Given the description of an element on the screen output the (x, y) to click on. 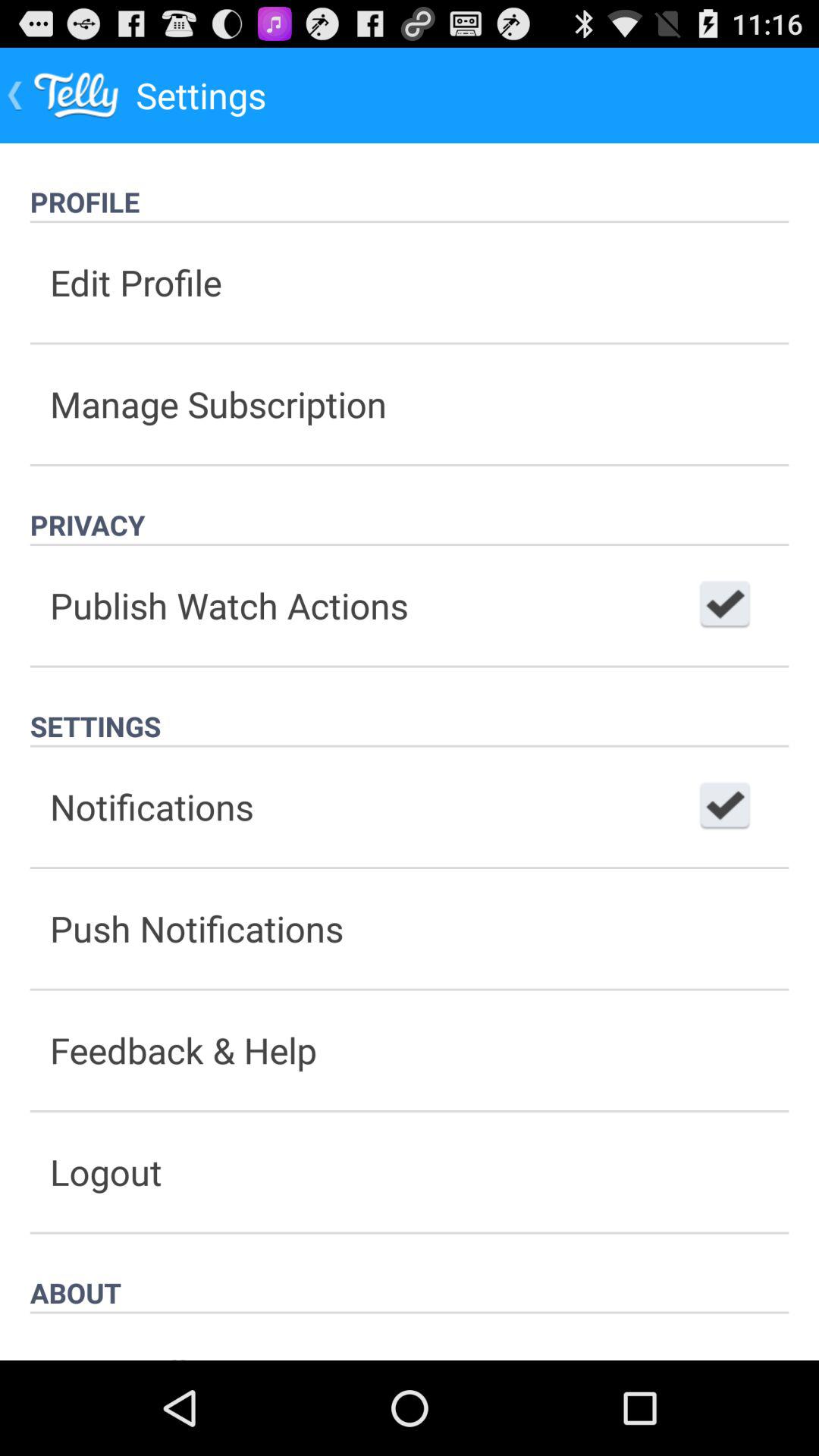
turn notifications on or off (724, 806)
